Given the description of an element on the screen output the (x, y) to click on. 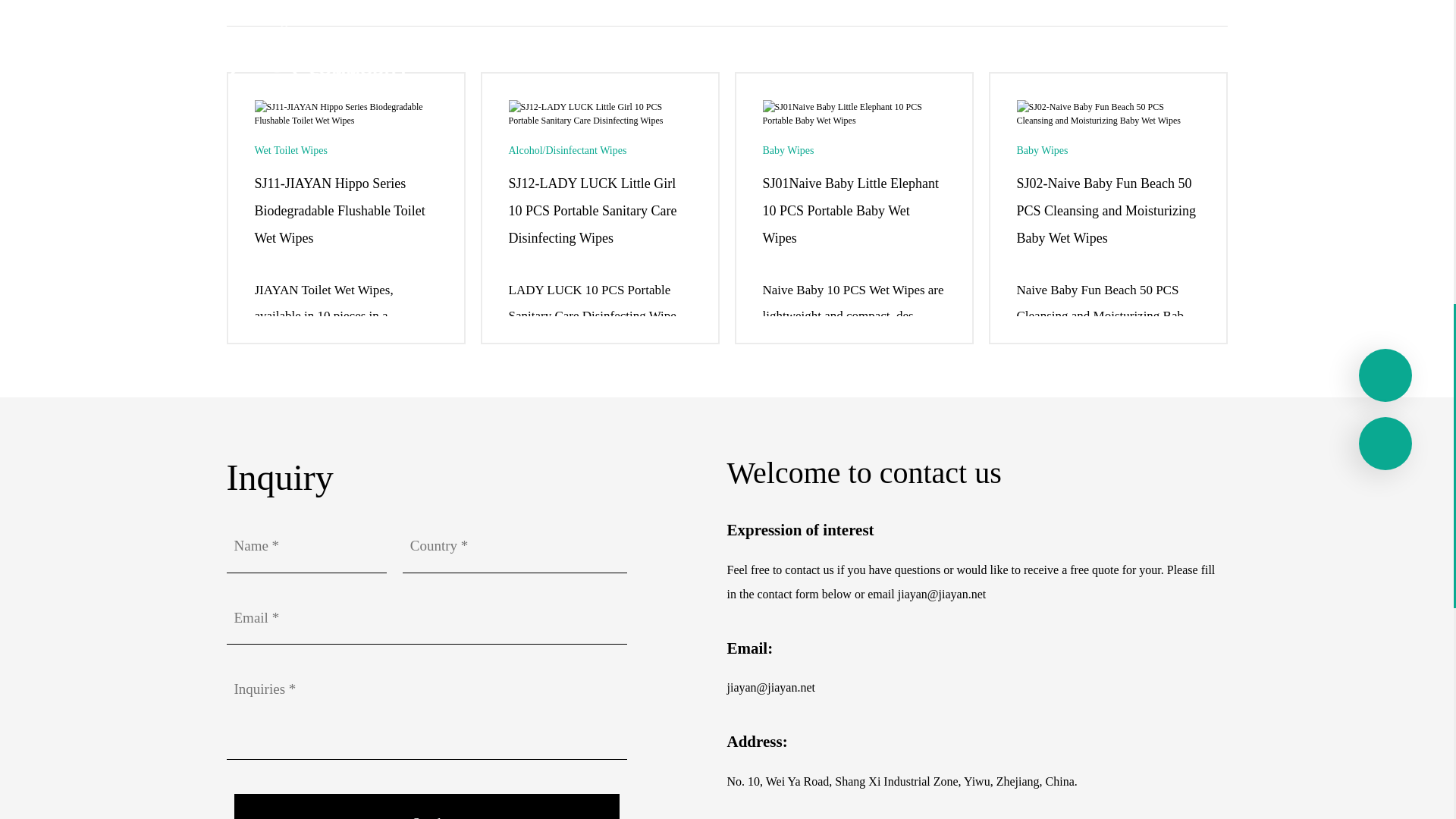
Send (425, 806)
